Given the description of an element on the screen output the (x, y) to click on. 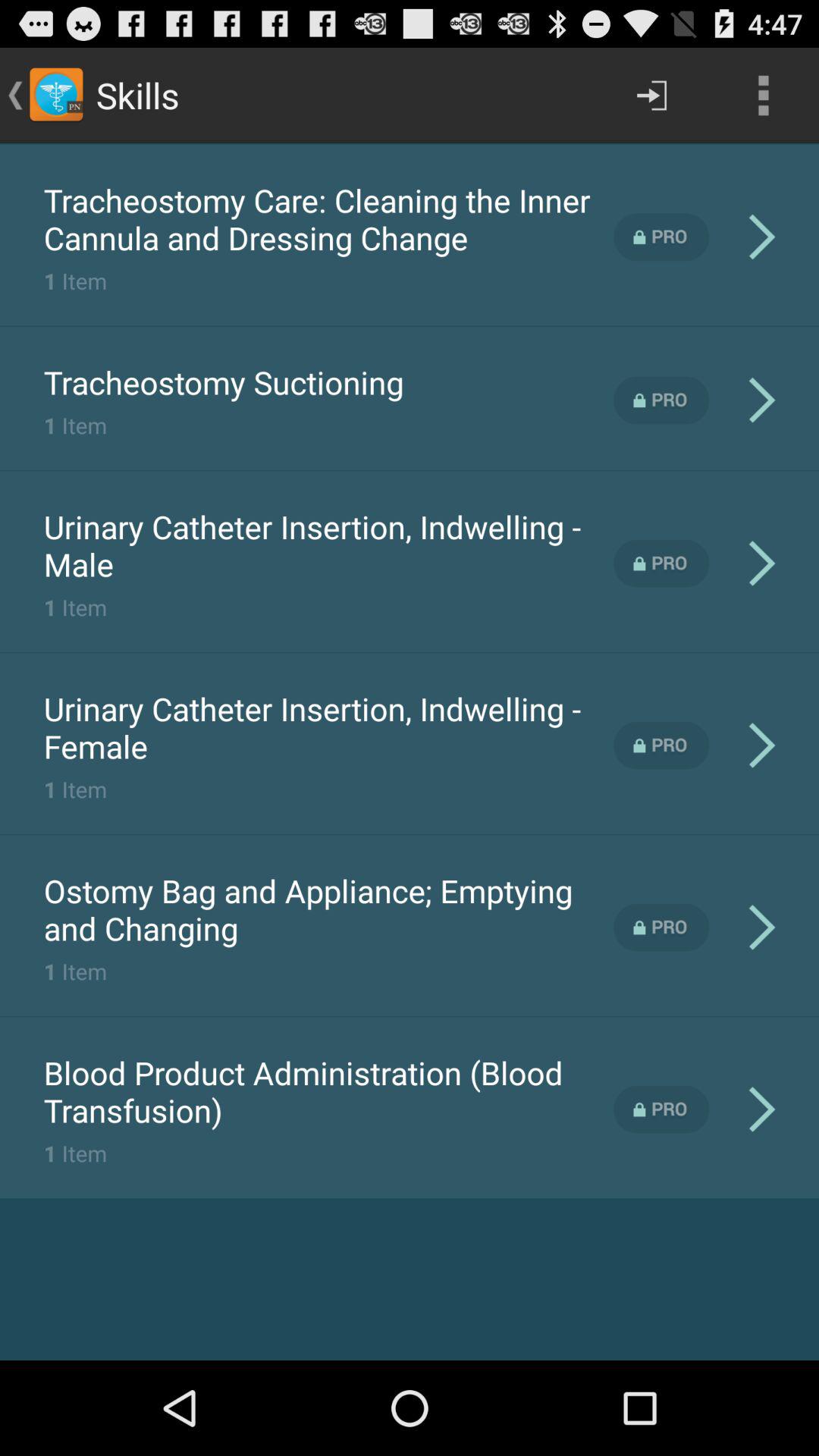
open the item next to the skills item (651, 95)
